Given the description of an element on the screen output the (x, y) to click on. 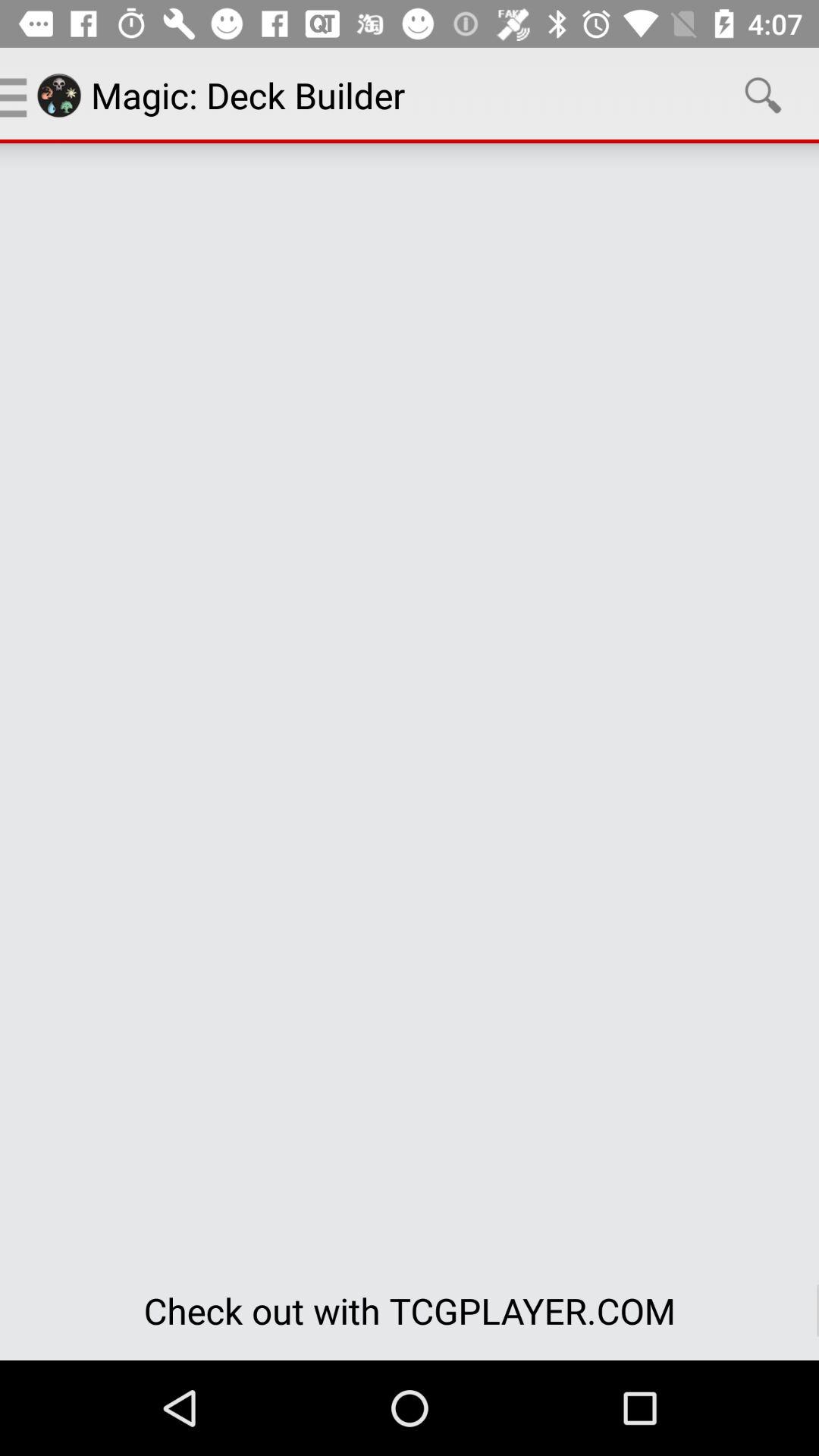
swipe until check out with (409, 1310)
